Given the description of an element on the screen output the (x, y) to click on. 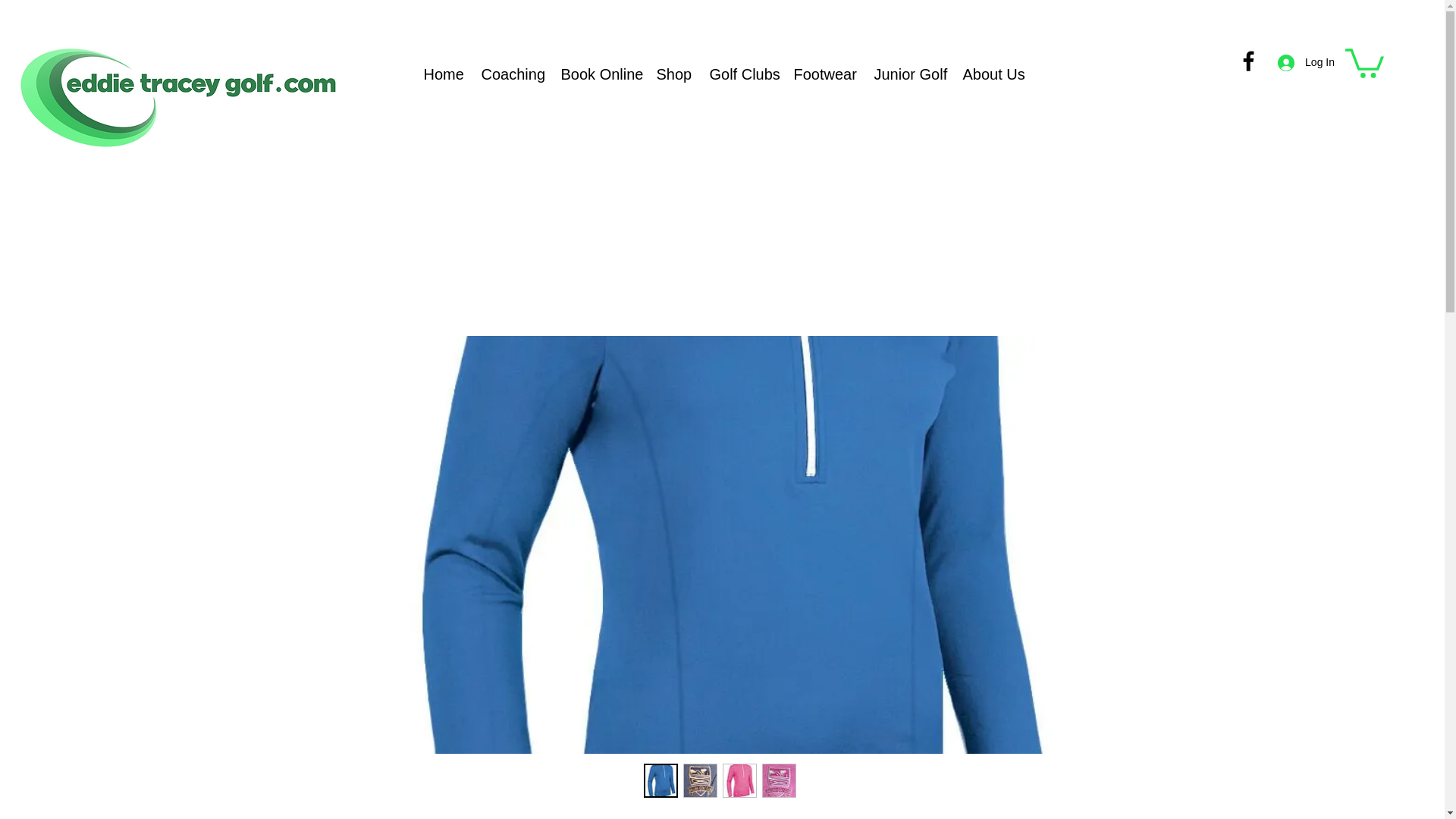
Book Online (596, 74)
Junior Golf (907, 74)
Log In (1305, 62)
